Given the description of an element on the screen output the (x, y) to click on. 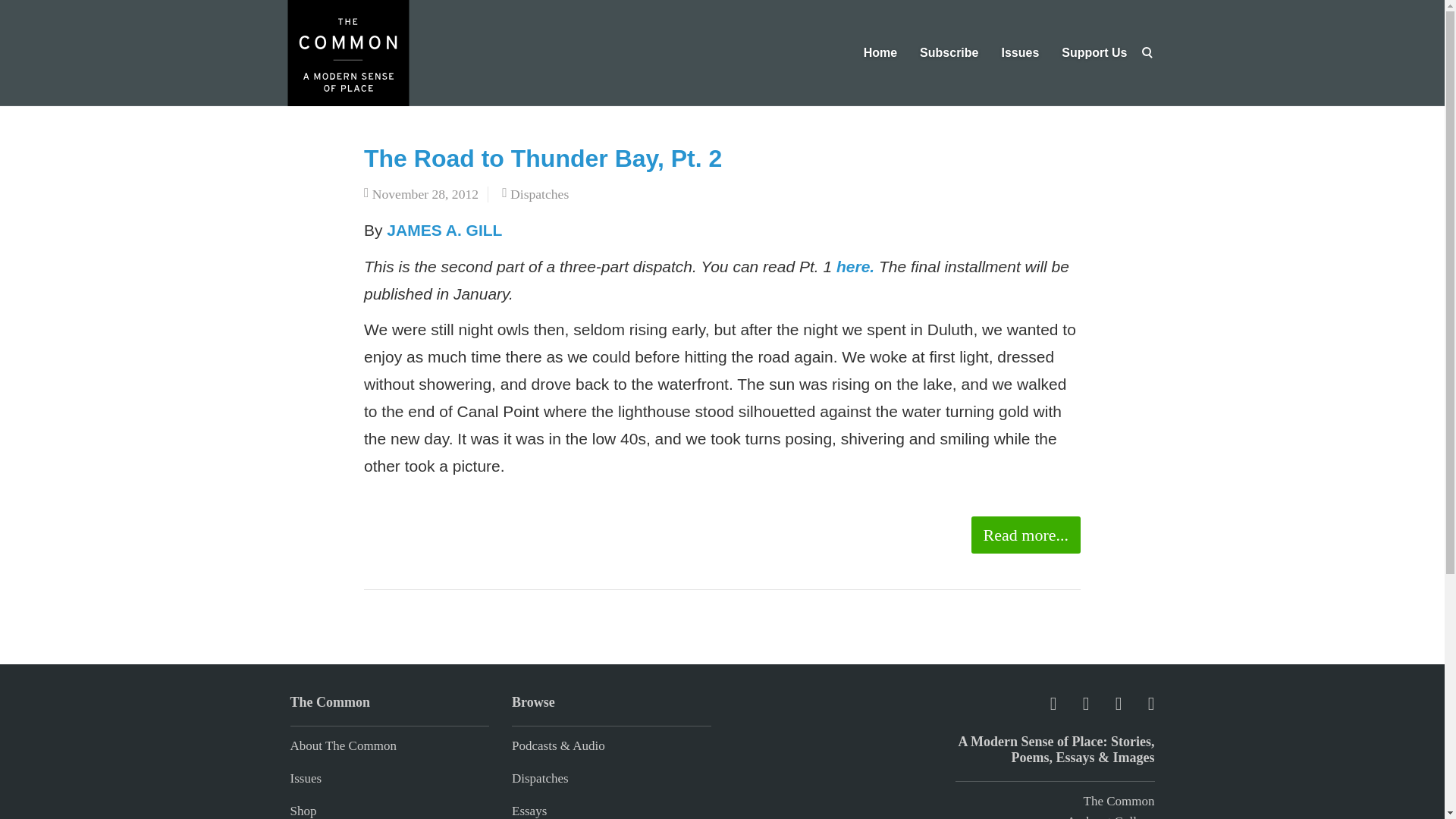
Read more... (1025, 535)
Essays (529, 810)
Dispatches (540, 778)
here. (855, 266)
JAMES A. GILL (444, 230)
Shop (302, 810)
About The Common (342, 745)
Permalink to The Road to Thunder Bay, Pt. 2 (543, 157)
Dispatches (540, 193)
Issues (305, 778)
